Given the description of an element on the screen output the (x, y) to click on. 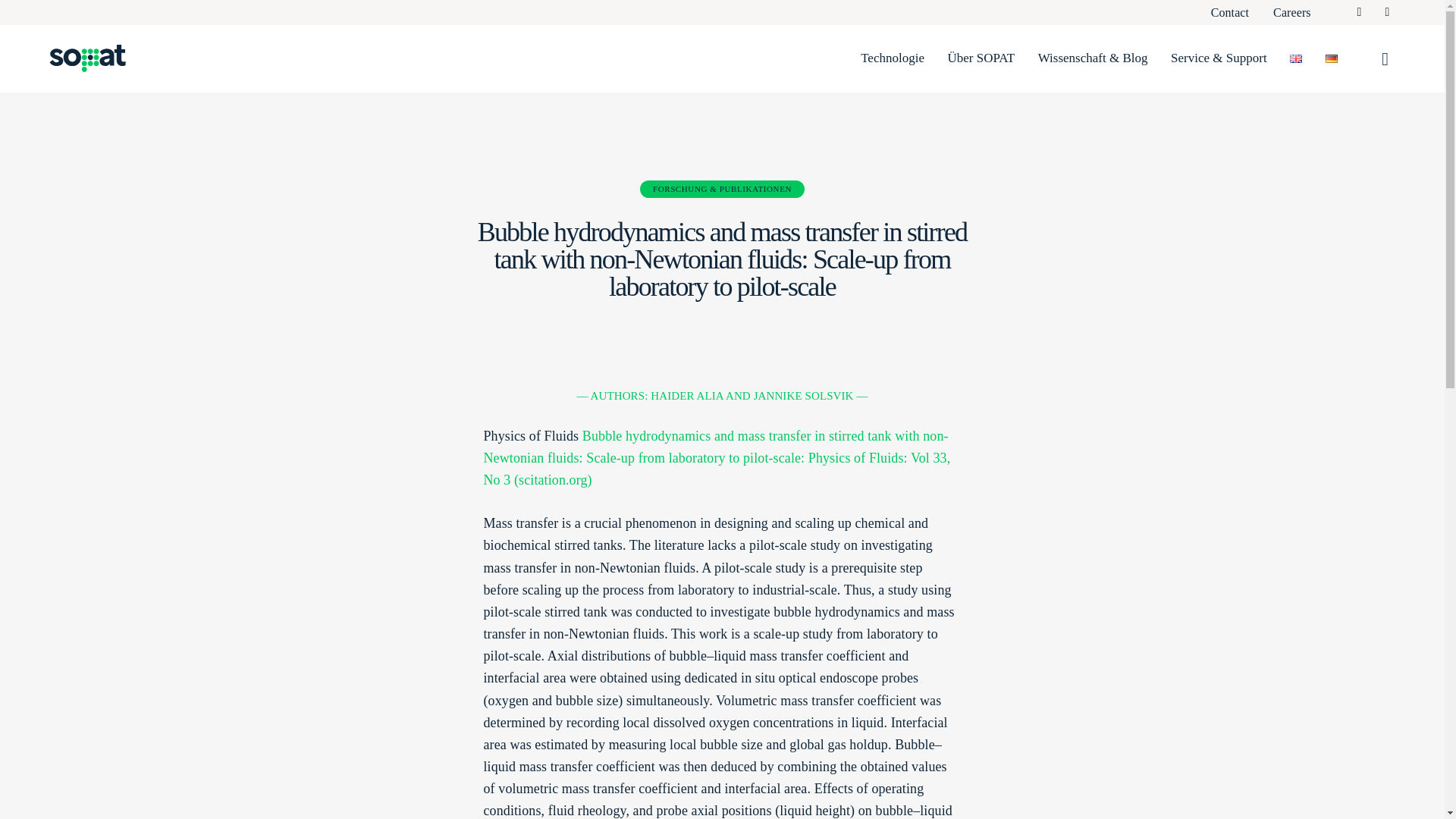
Careers (1291, 12)
Technologie (892, 58)
Contact (1230, 12)
